Given the description of an element on the screen output the (x, y) to click on. 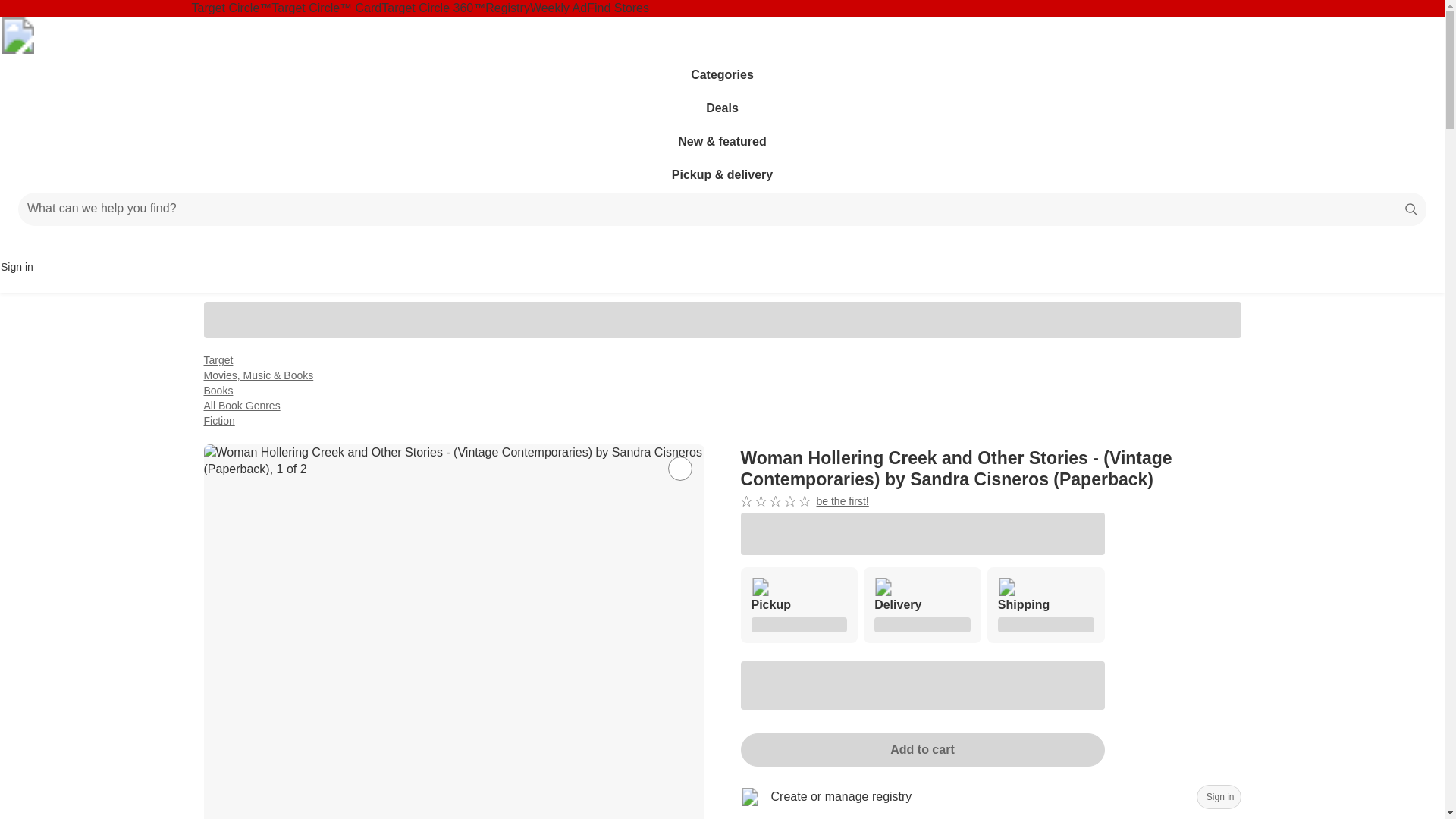
Find Stores (617, 7)
Sign in (716, 242)
Delivery (922, 604)
Target (217, 359)
Registry (506, 7)
Fiction (218, 420)
Shipping (1046, 604)
Add to cart (803, 501)
Weekly Ad (921, 749)
